Given the description of an element on the screen output the (x, y) to click on. 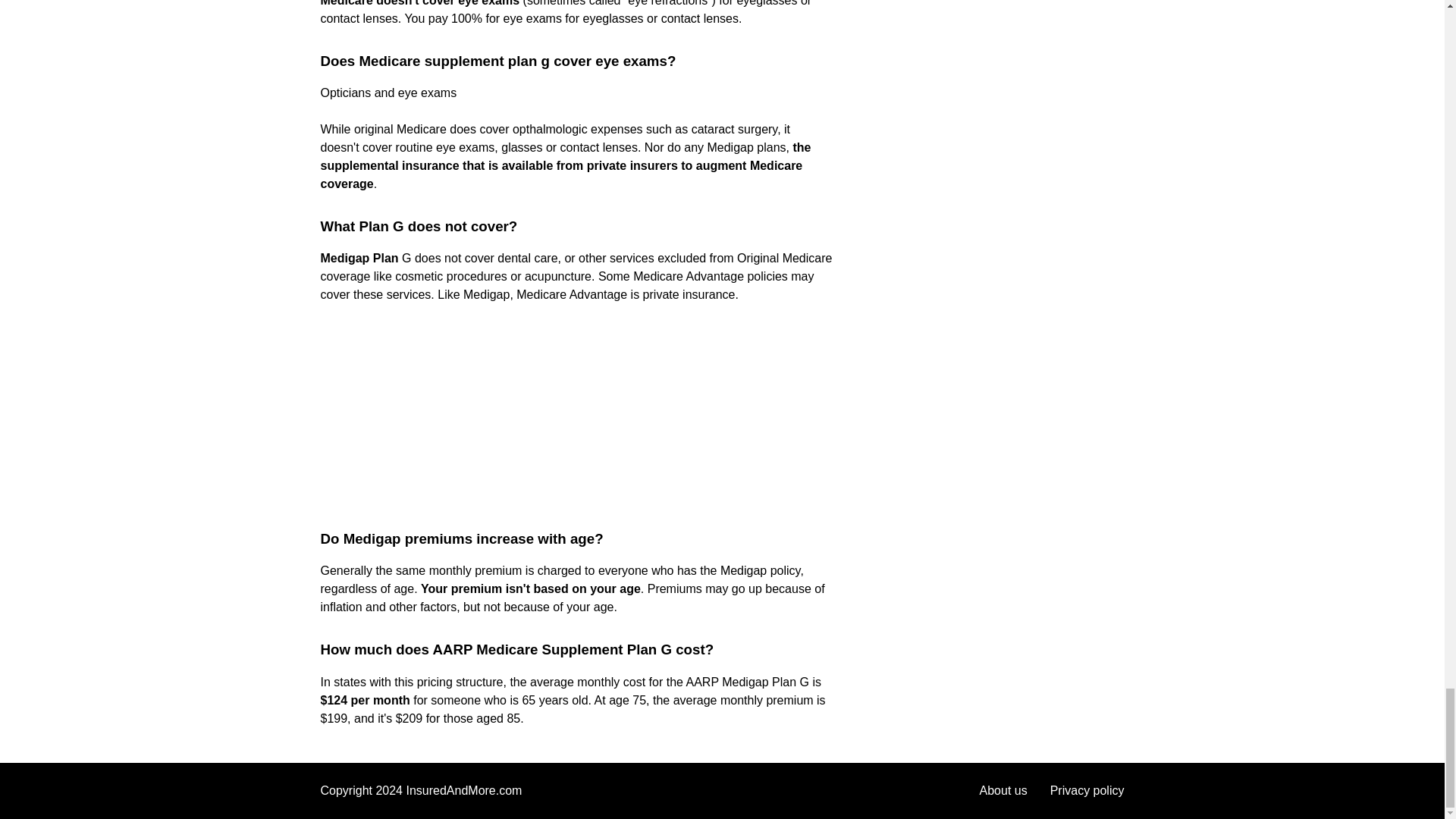
Privacy policy (1086, 790)
About us (1003, 790)
